Given the description of an element on the screen output the (x, y) to click on. 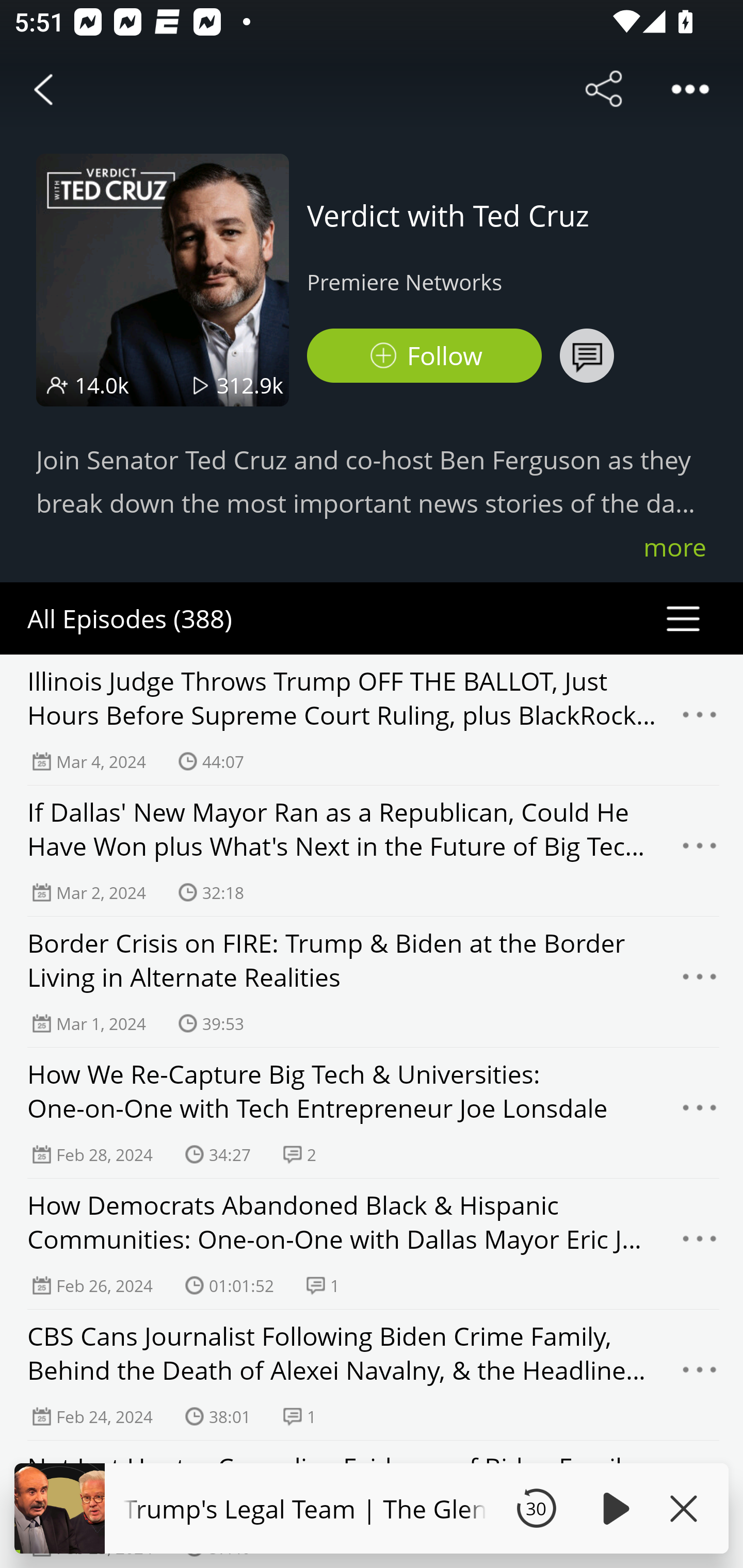
Back (43, 88)
Podbean Follow (423, 355)
14.0k (102, 384)
more (674, 546)
Menu (699, 720)
Menu (699, 850)
Menu (699, 982)
Menu (699, 1113)
Menu (699, 1244)
Menu (699, 1375)
Play (613, 1507)
30 Seek Backward (536, 1508)
